Given the description of an element on the screen output the (x, y) to click on. 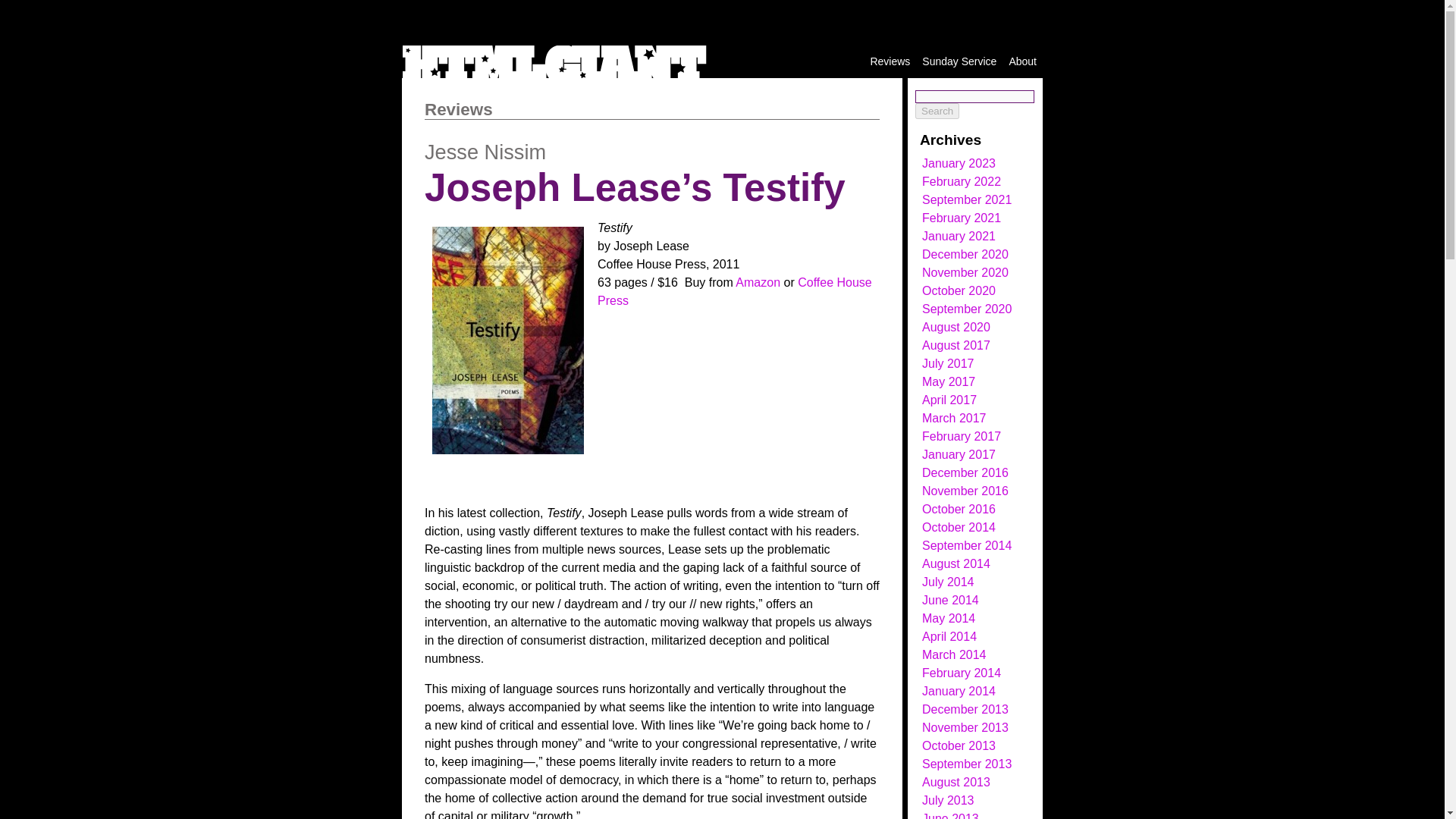
Sunday Service (958, 61)
November 2020 (965, 272)
December 2020 (965, 254)
Search (937, 110)
March 2017 (954, 418)
Reviews (889, 61)
May 2017 (948, 381)
October 2020 (958, 290)
January 2021 (958, 236)
January 2017 (958, 454)
August 2020 (955, 327)
Posts by Jesse Nissim (485, 151)
Jesse Nissim (485, 151)
April 2014 (948, 635)
Search (937, 110)
